Given the description of an element on the screen output the (x, y) to click on. 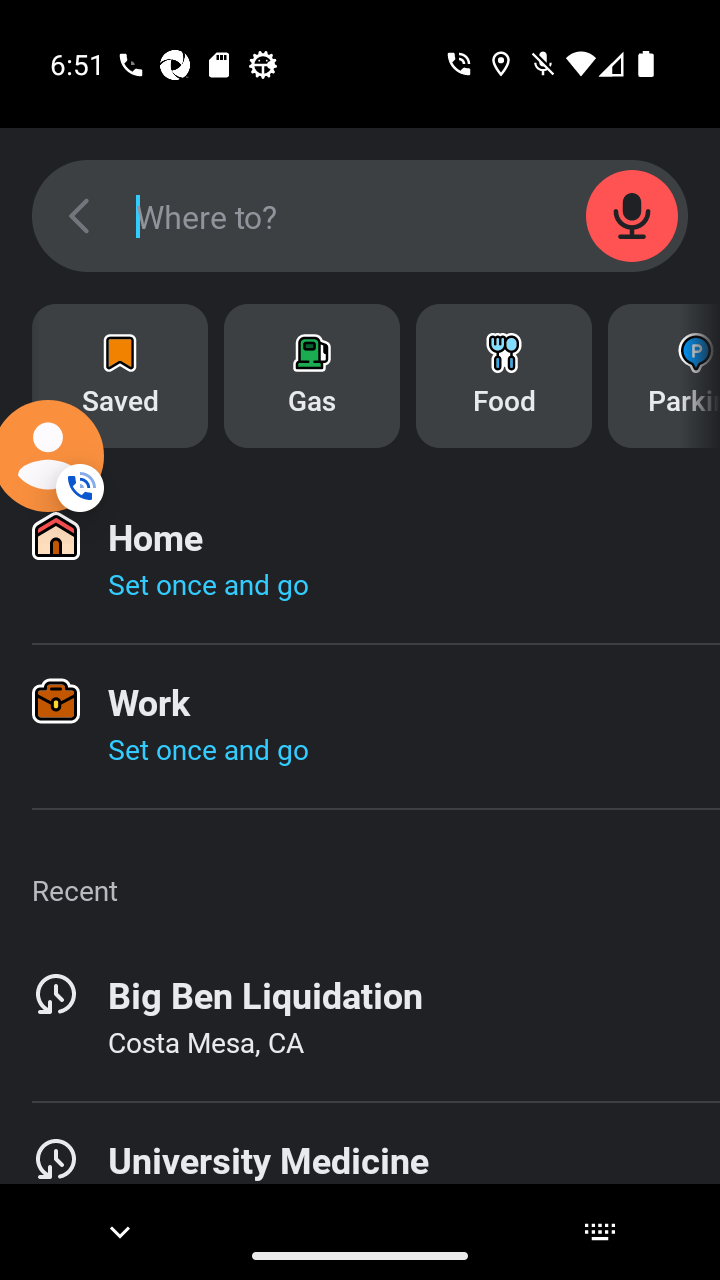
SEARCH_SCREEN_SEARCH_FIELD Where to? (359, 215)
Saved (119, 376)
Gas (311, 376)
Food (503, 376)
Parking (663, 376)
Home Set once and go (360, 561)
Work Set once and go (360, 726)
Big Ben Liquidation Costa Mesa, CA (360, 1019)
University Medicine (360, 1167)
